Given the description of an element on the screen output the (x, y) to click on. 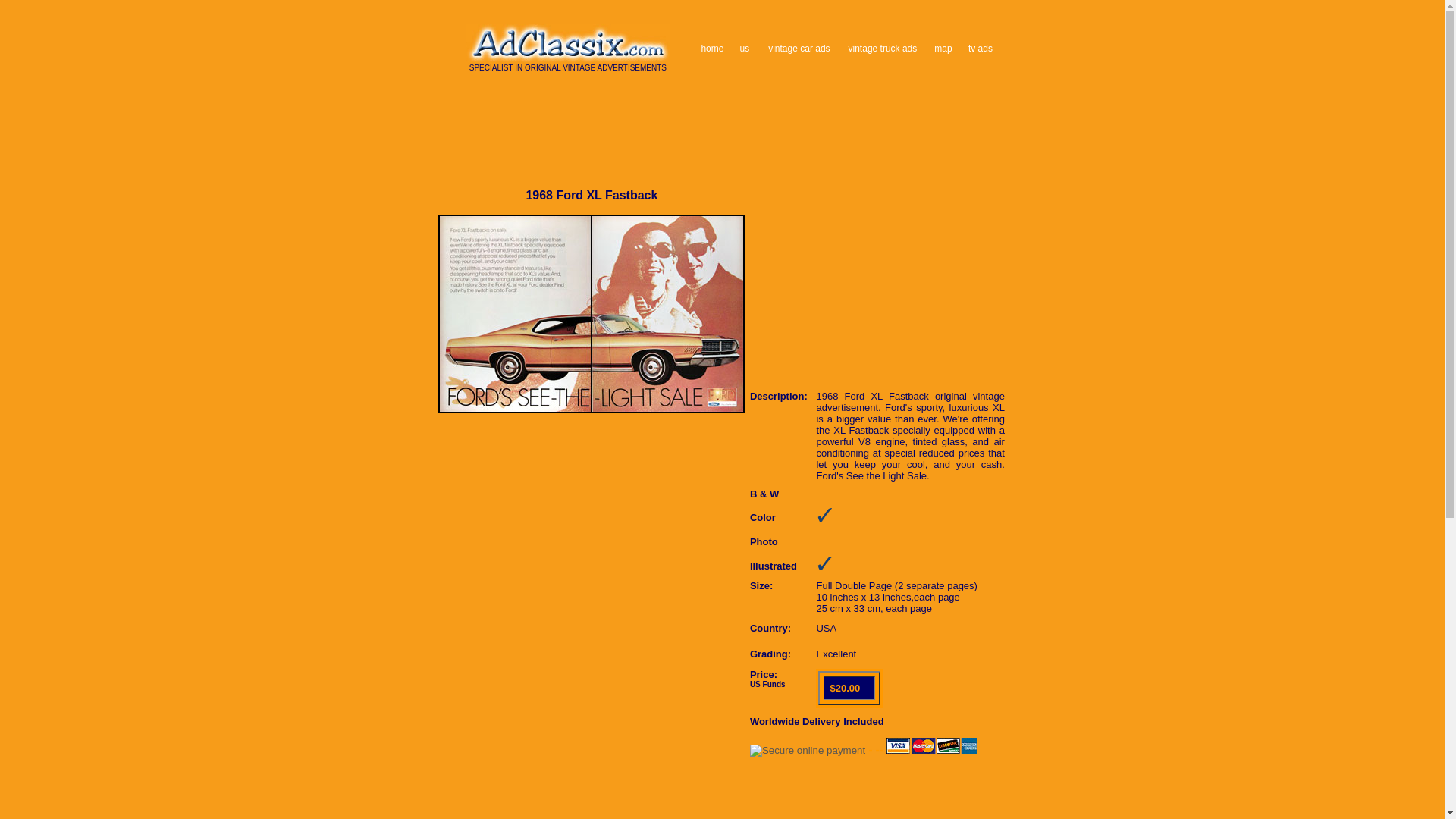
vintage truck ads (882, 47)
home (711, 47)
Advertisement (719, 809)
Advertisement (719, 126)
Advertisement (719, 165)
map (943, 47)
Advertisement (876, 281)
tv ads (980, 47)
us (744, 47)
vintage car ads (798, 47)
